Given the description of an element on the screen output the (x, y) to click on. 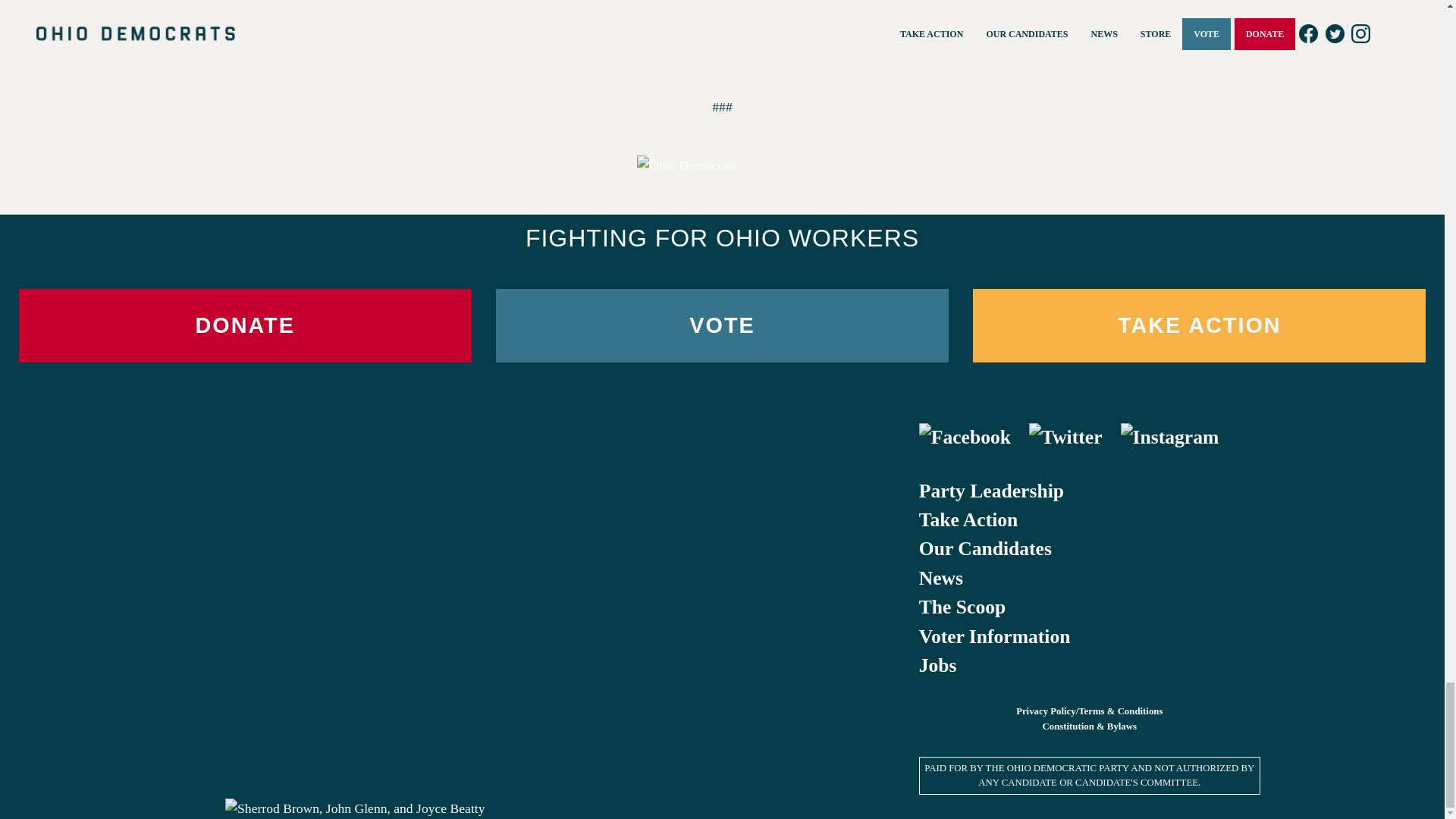
News (940, 577)
TAKE ACTION (1198, 325)
Party Leadership (991, 490)
Take Action (967, 519)
Jobs (937, 665)
Voter Information (994, 636)
Our Candidates (984, 548)
DONATE (243, 325)
The Scoop (962, 607)
VOTE (722, 325)
